Given the description of an element on the screen output the (x, y) to click on. 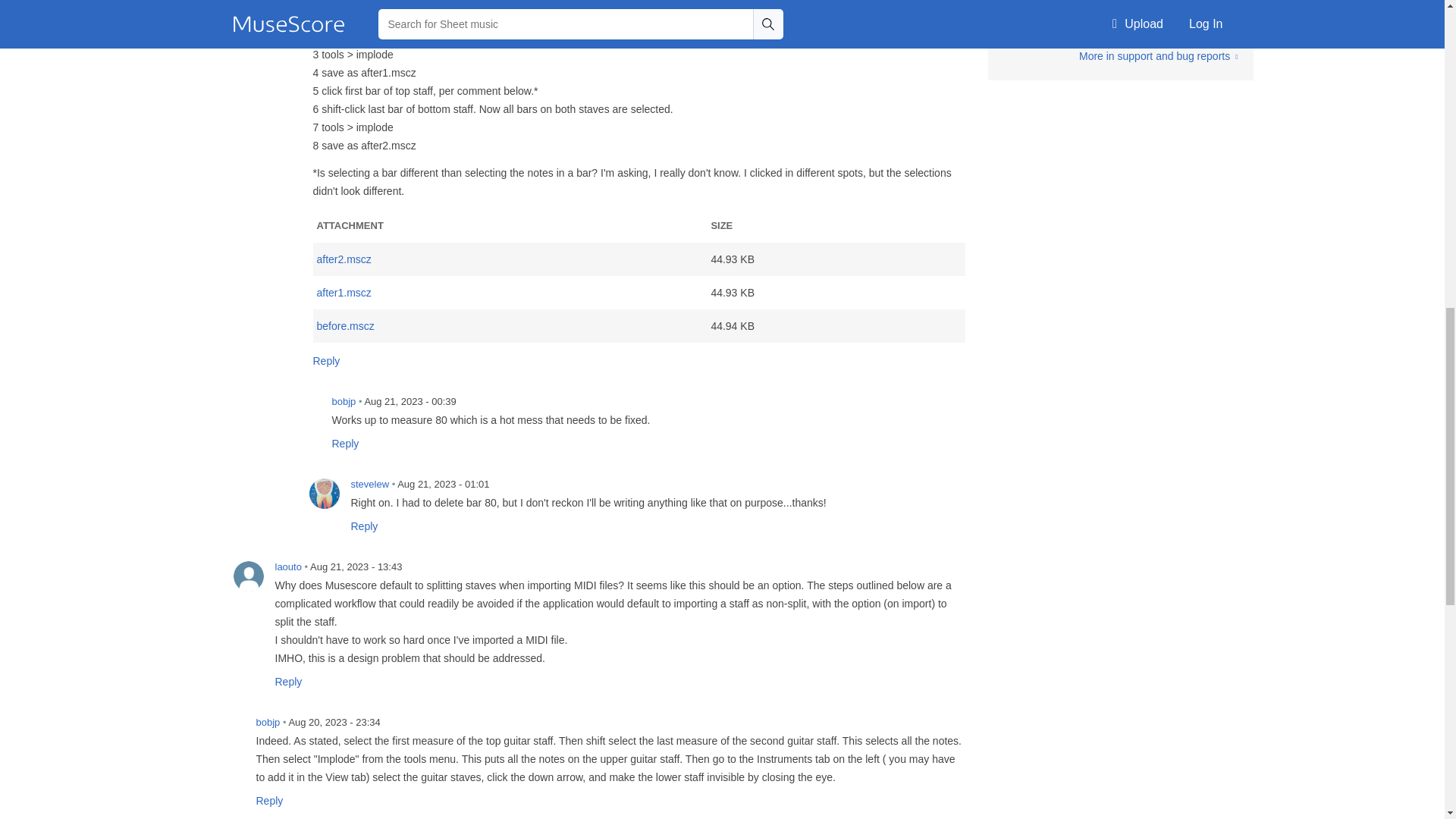
bobjp (229, 731)
bobjp (304, 410)
laouto (247, 576)
stevelew (323, 493)
